Given the description of an element on the screen output the (x, y) to click on. 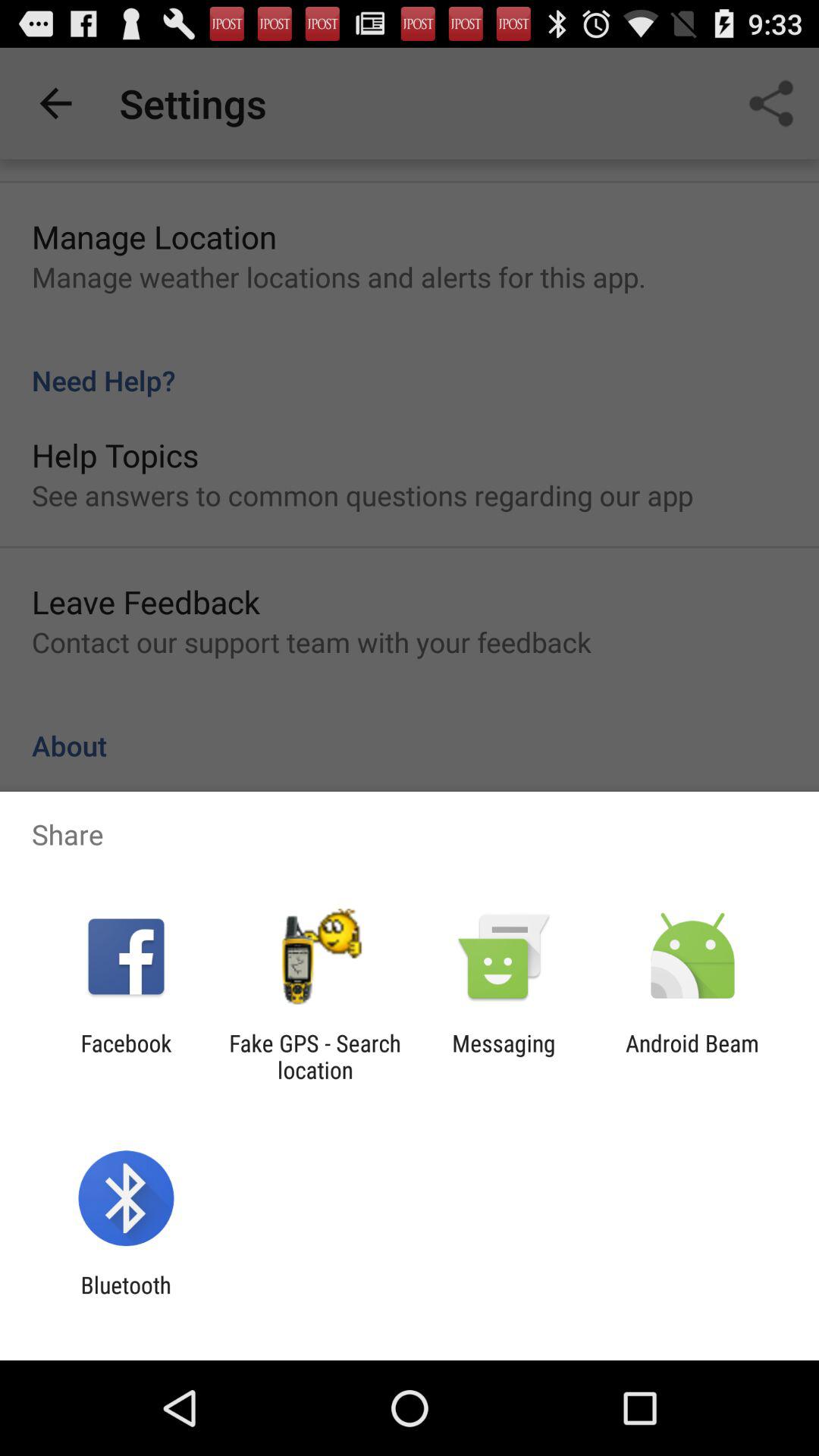
swipe until the fake gps search icon (314, 1056)
